Given the description of an element on the screen output the (x, y) to click on. 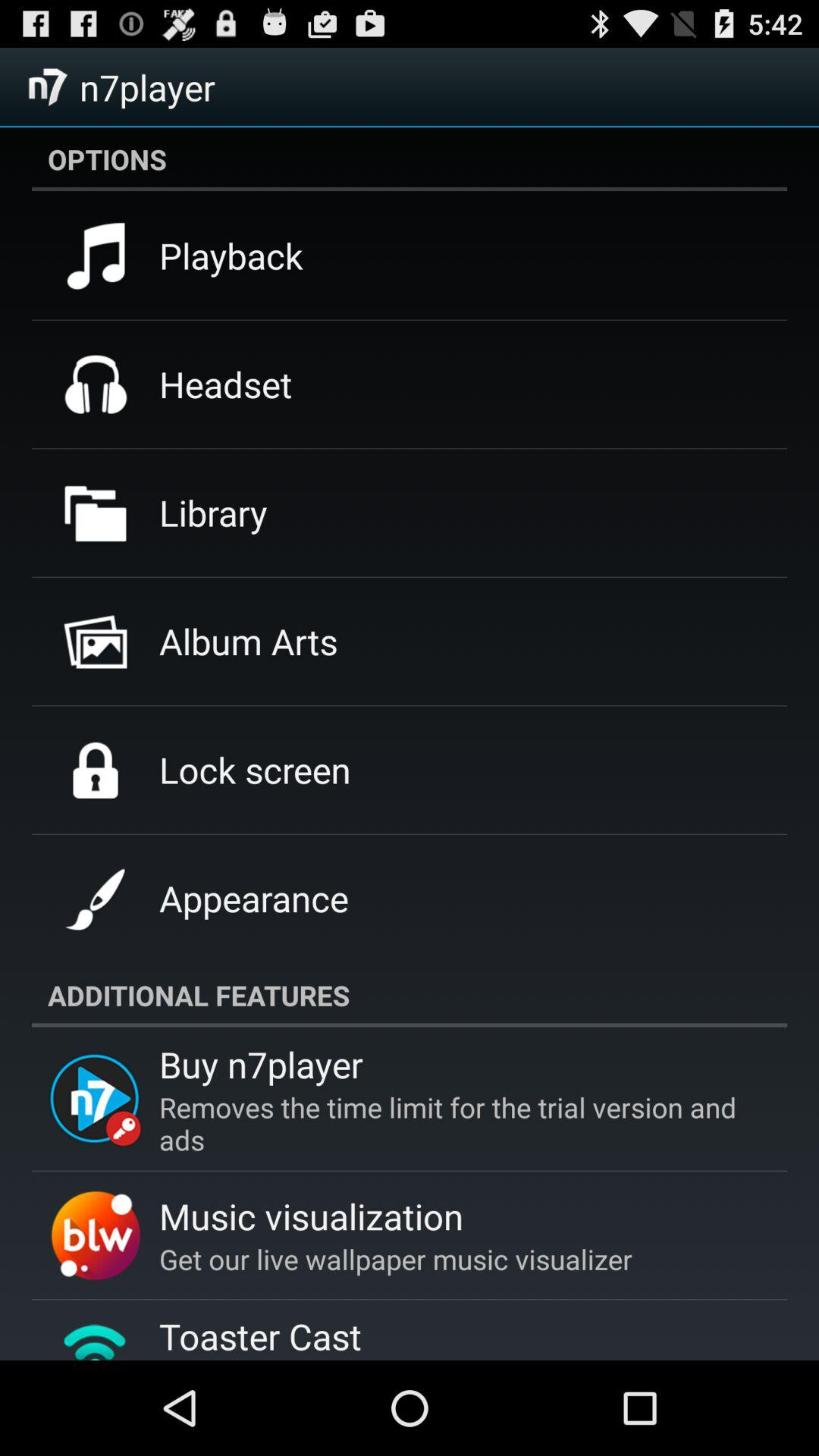
launch icon above library icon (225, 384)
